Given the description of an element on the screen output the (x, y) to click on. 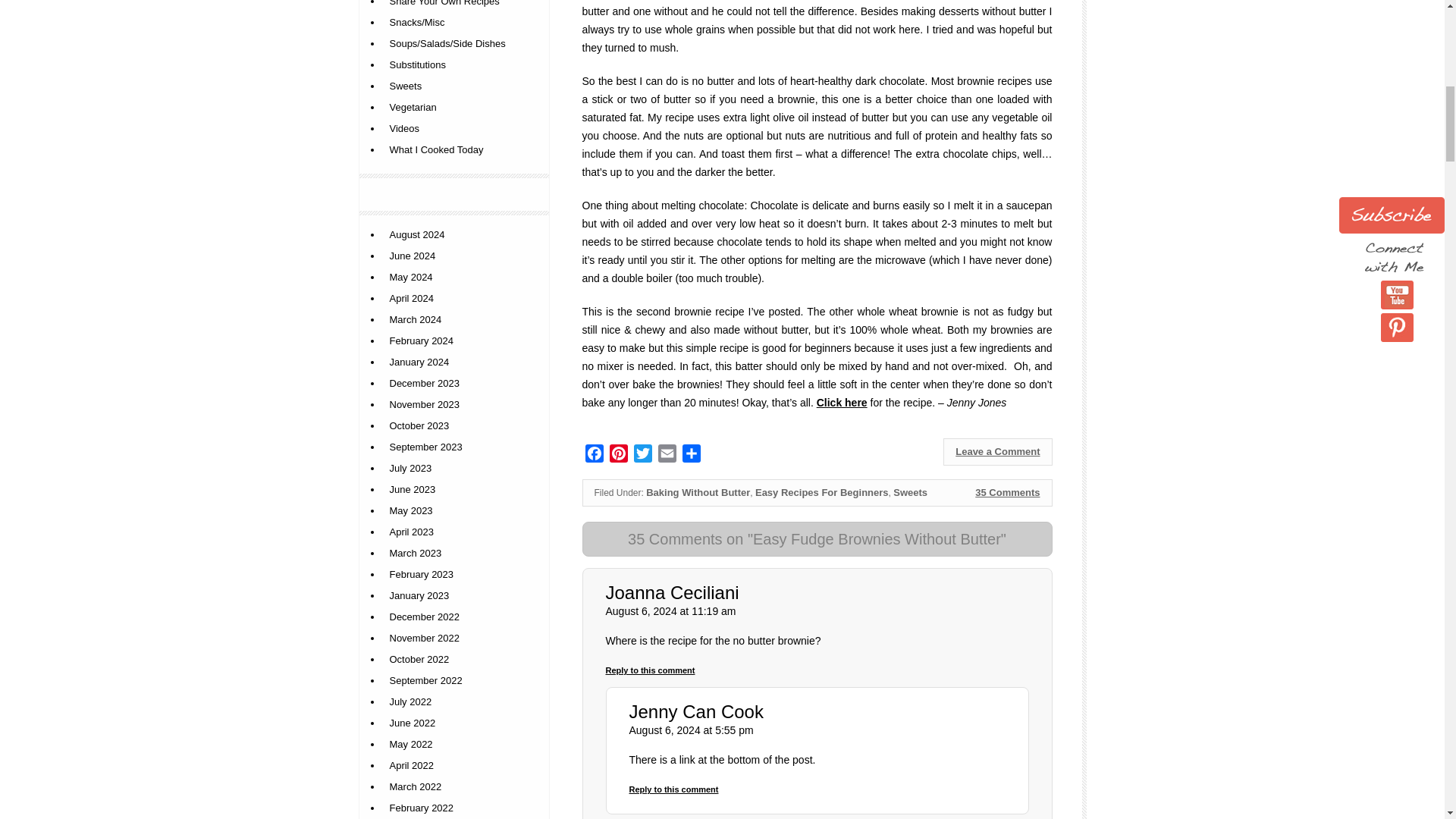
Pinterest (618, 455)
Leave a Comment (997, 452)
Sweets (910, 491)
Twitter (642, 455)
Twitter (642, 455)
Baking Without Butter (697, 491)
Easy Recipes For Beginners (821, 491)
Dark Chocolate Fudge Brownies recipe from Jenny Jones (841, 402)
Facebook (594, 455)
Email (667, 455)
